Given the description of an element on the screen output the (x, y) to click on. 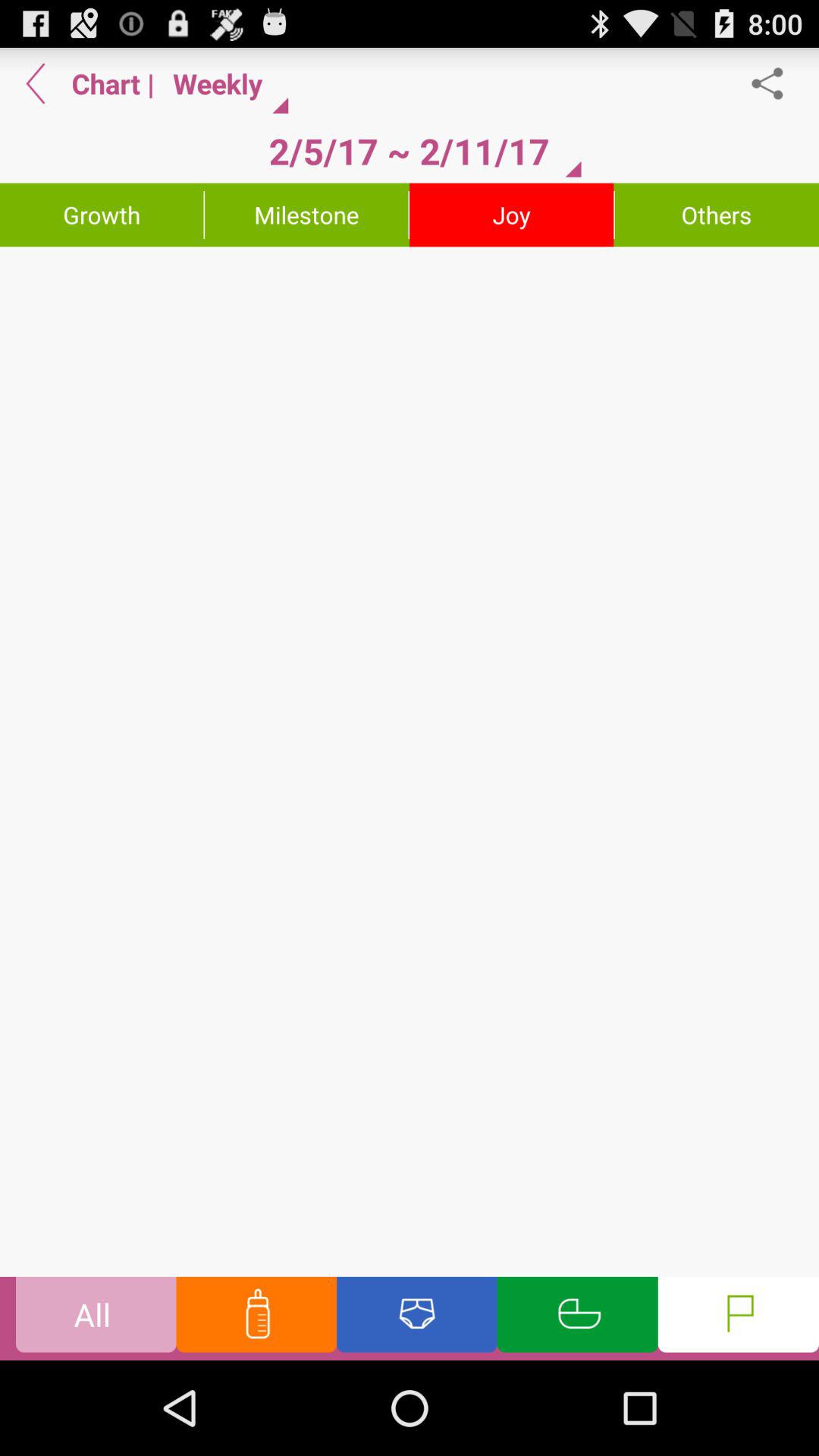
chart (409, 761)
